Given the description of an element on the screen output the (x, y) to click on. 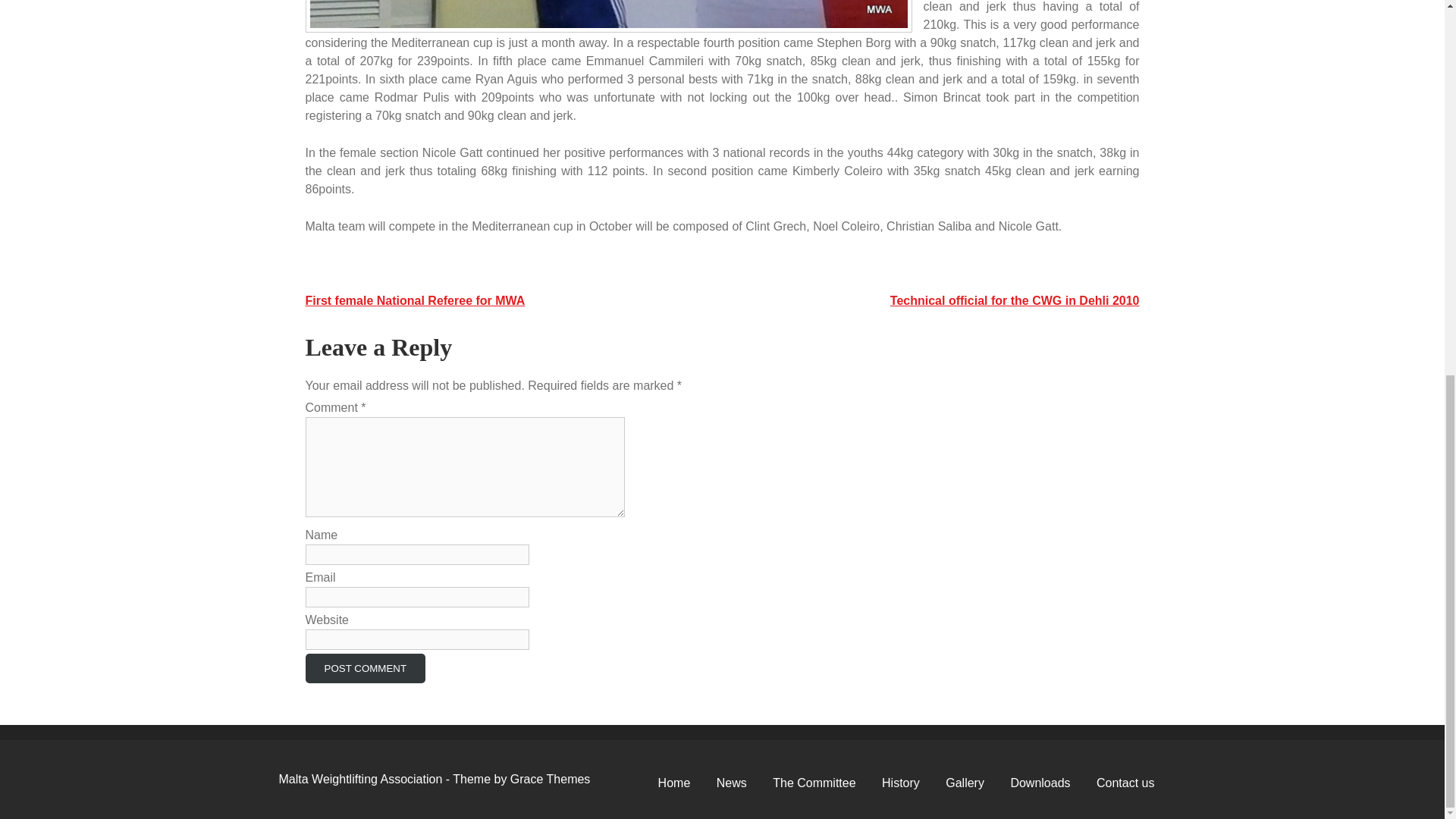
Contact us (1125, 783)
Technical official for the CWG in Dehli 2010 (1014, 300)
Post Comment (364, 668)
First female National Referee for MWA (414, 300)
News (731, 783)
Post Comment (364, 668)
The Committee (813, 783)
Home (673, 783)
Downloads (1039, 783)
History (900, 783)
Gallery (964, 783)
